Given the description of an element on the screen output the (x, y) to click on. 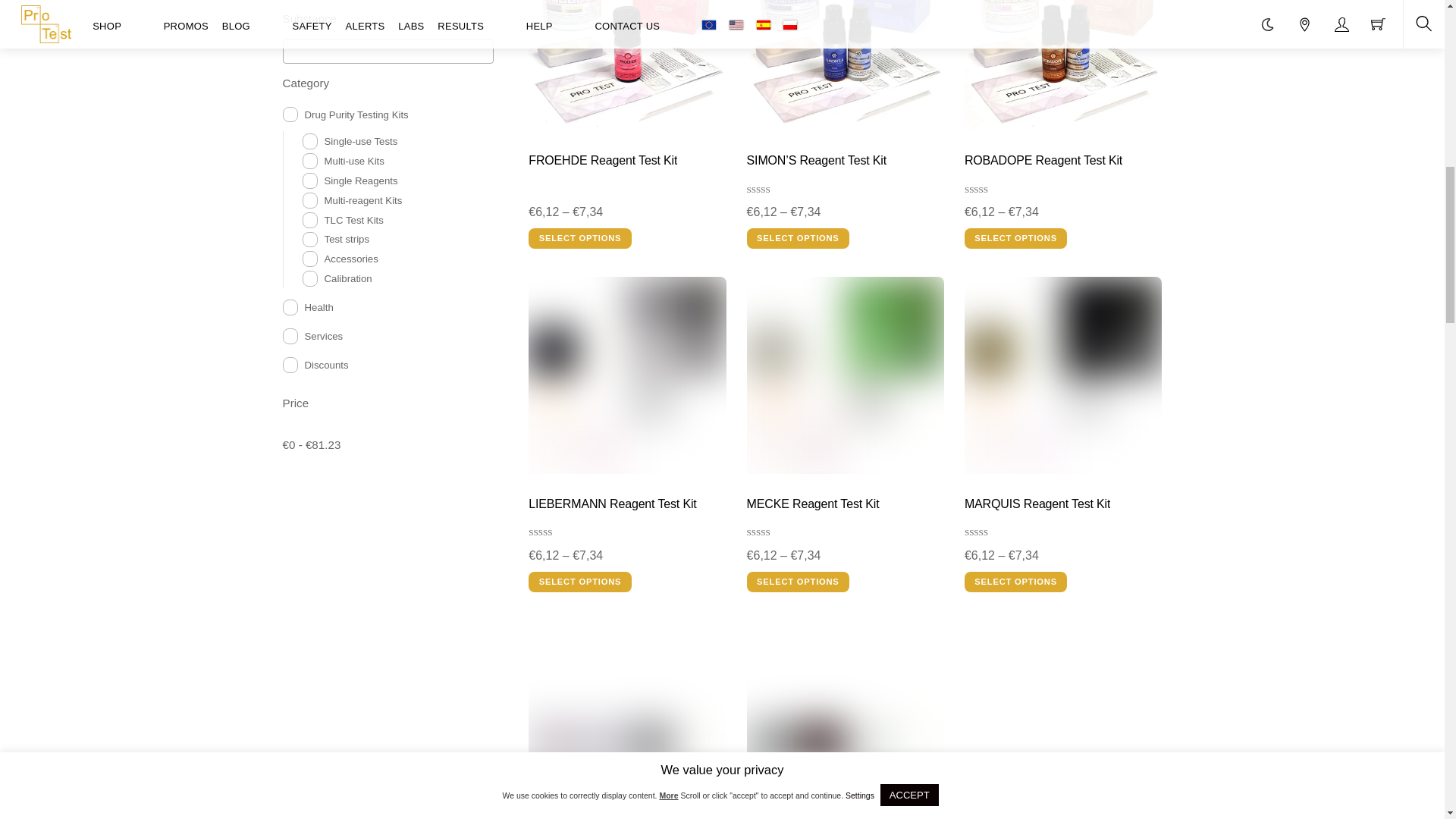
Froehde reagent (627, 65)
Robadope reagent (1062, 65)
Simon's reagent (845, 65)
